Given the description of an element on the screen output the (x, y) to click on. 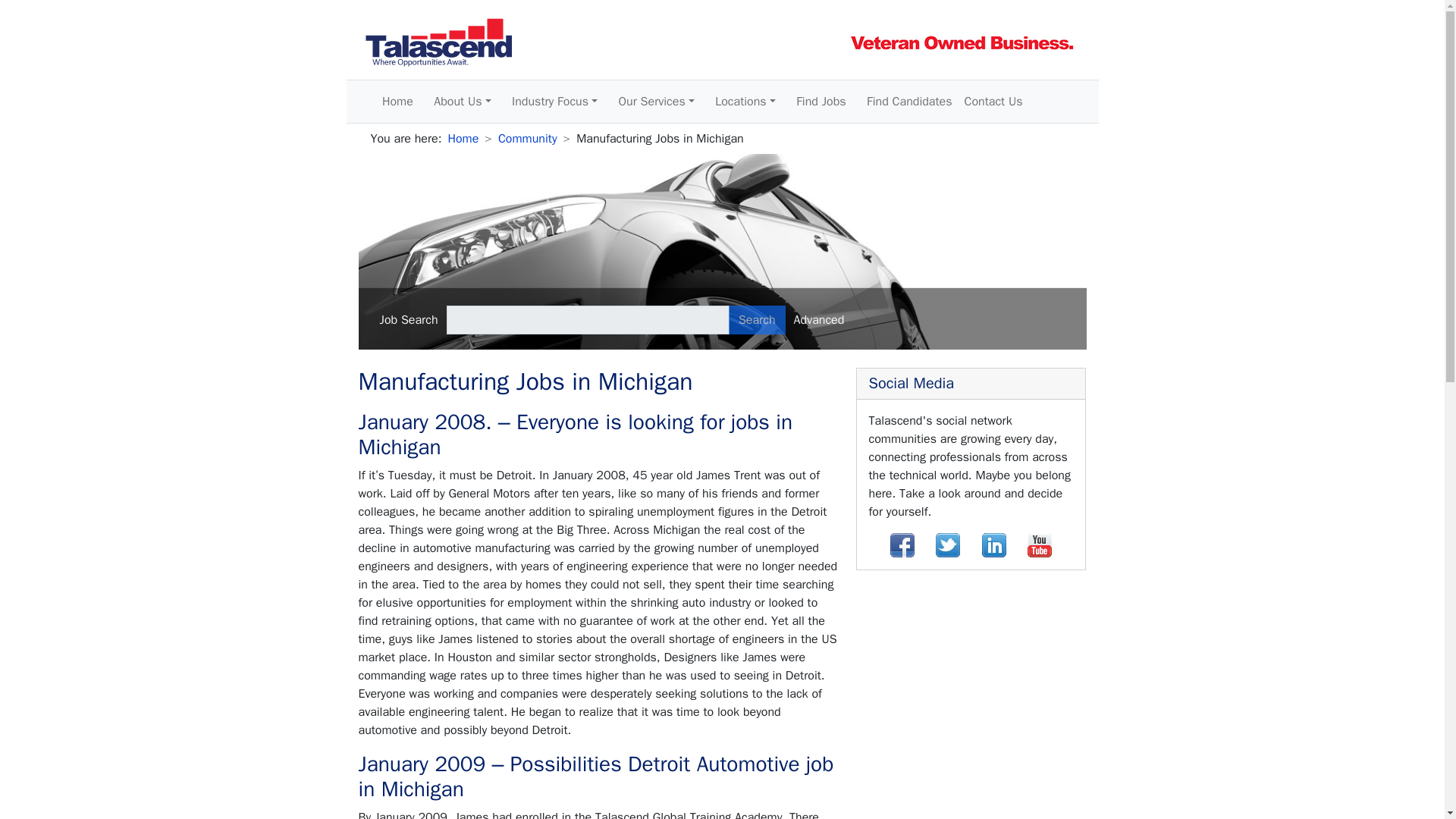
Facebook (901, 545)
YouTube (1039, 545)
Twitter (947, 545)
LinkedIn (993, 545)
Home (397, 101)
Industry Focus (554, 101)
Our Services (656, 101)
About Us (462, 101)
